Given the description of an element on the screen output the (x, y) to click on. 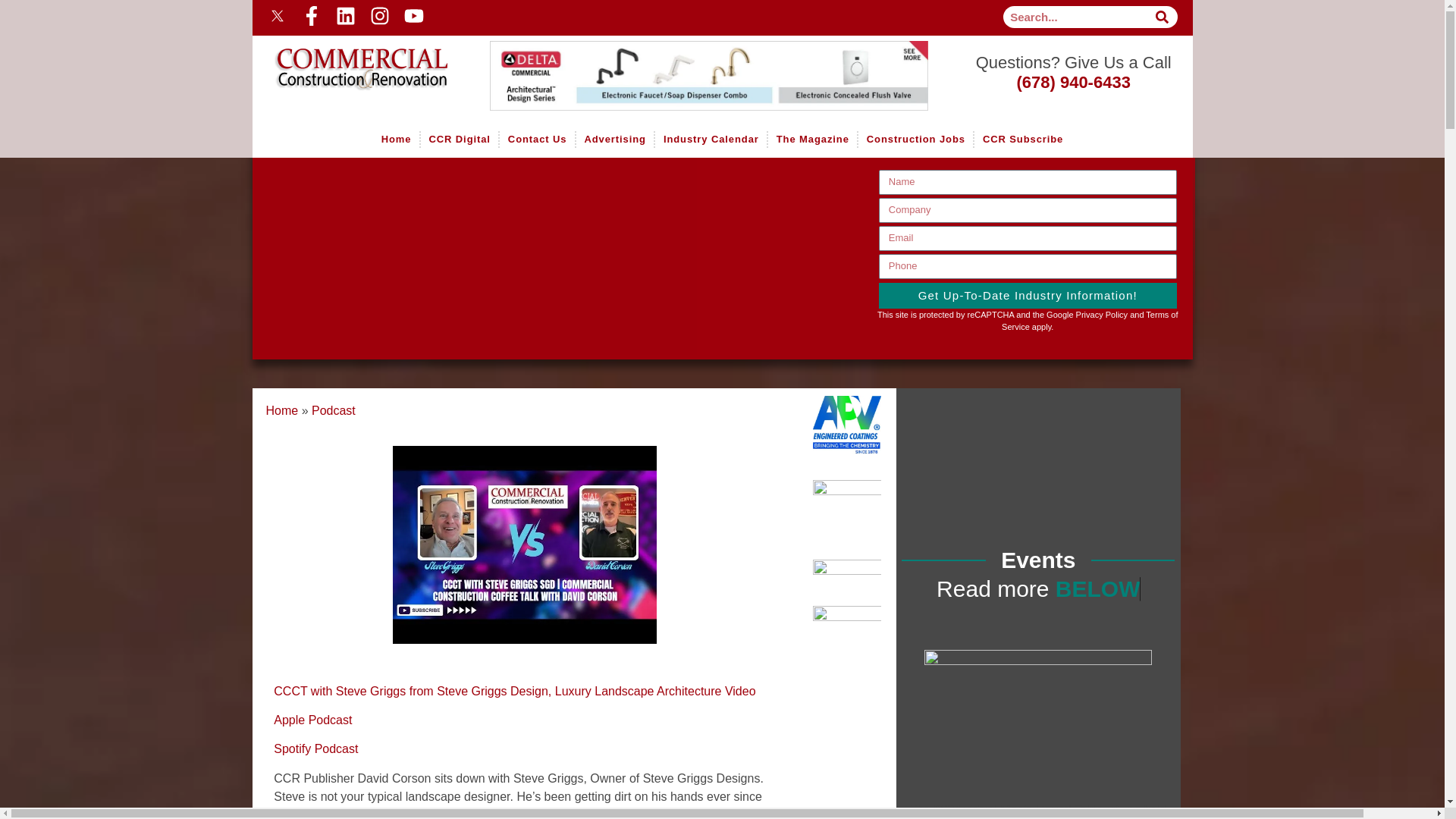
Contact Us (537, 138)
CCR Digital (459, 138)
Industry Calendar (710, 138)
Social Media (486, 15)
Home (350, 58)
Sponsors (718, 76)
Advertising (614, 138)
